Given the description of an element on the screen output the (x, y) to click on. 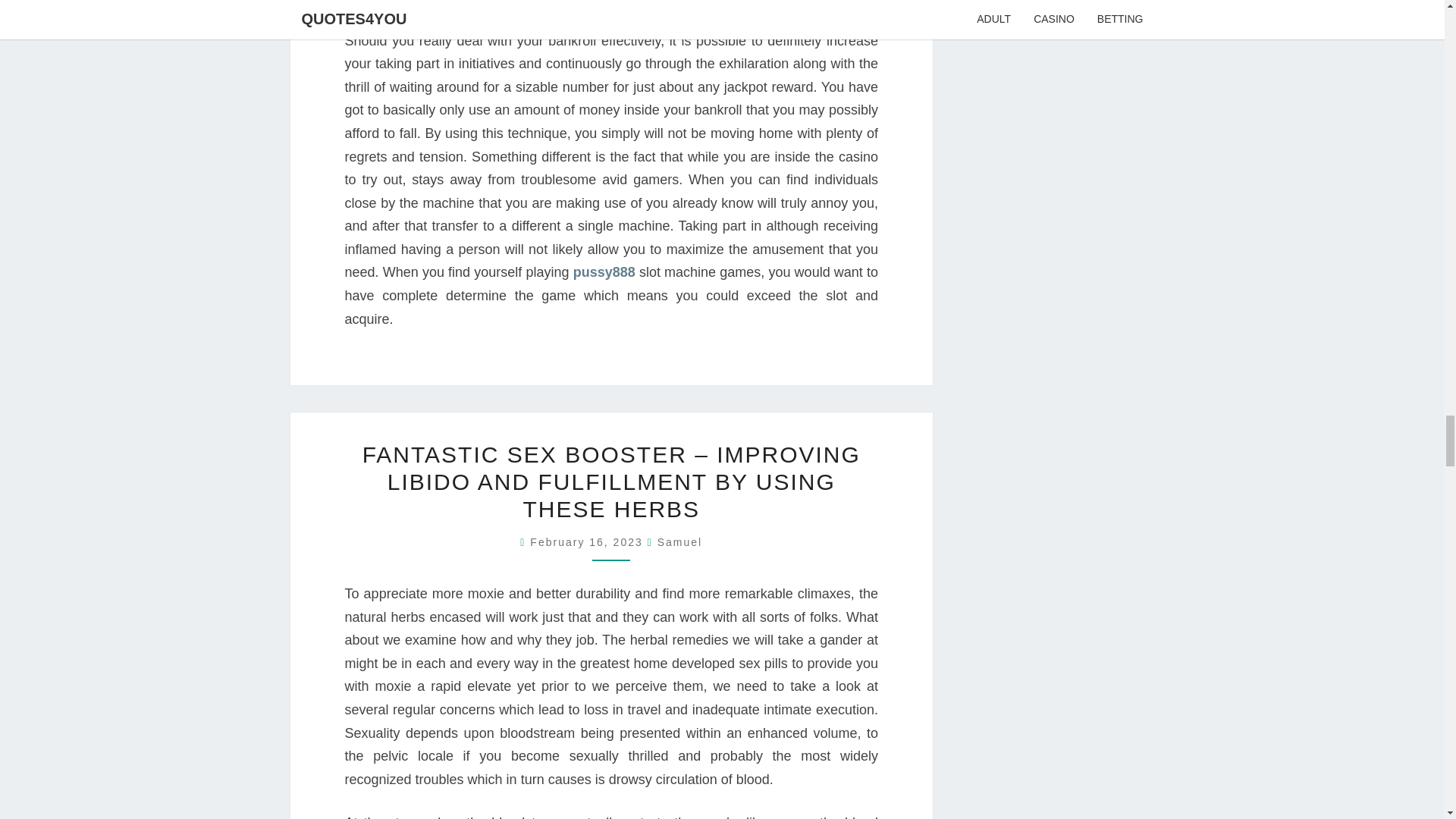
9:01 am (587, 541)
pussy888 (603, 272)
View all posts by Samuel (679, 541)
Samuel (679, 541)
February 16, 2023 (587, 541)
